Given the description of an element on the screen output the (x, y) to click on. 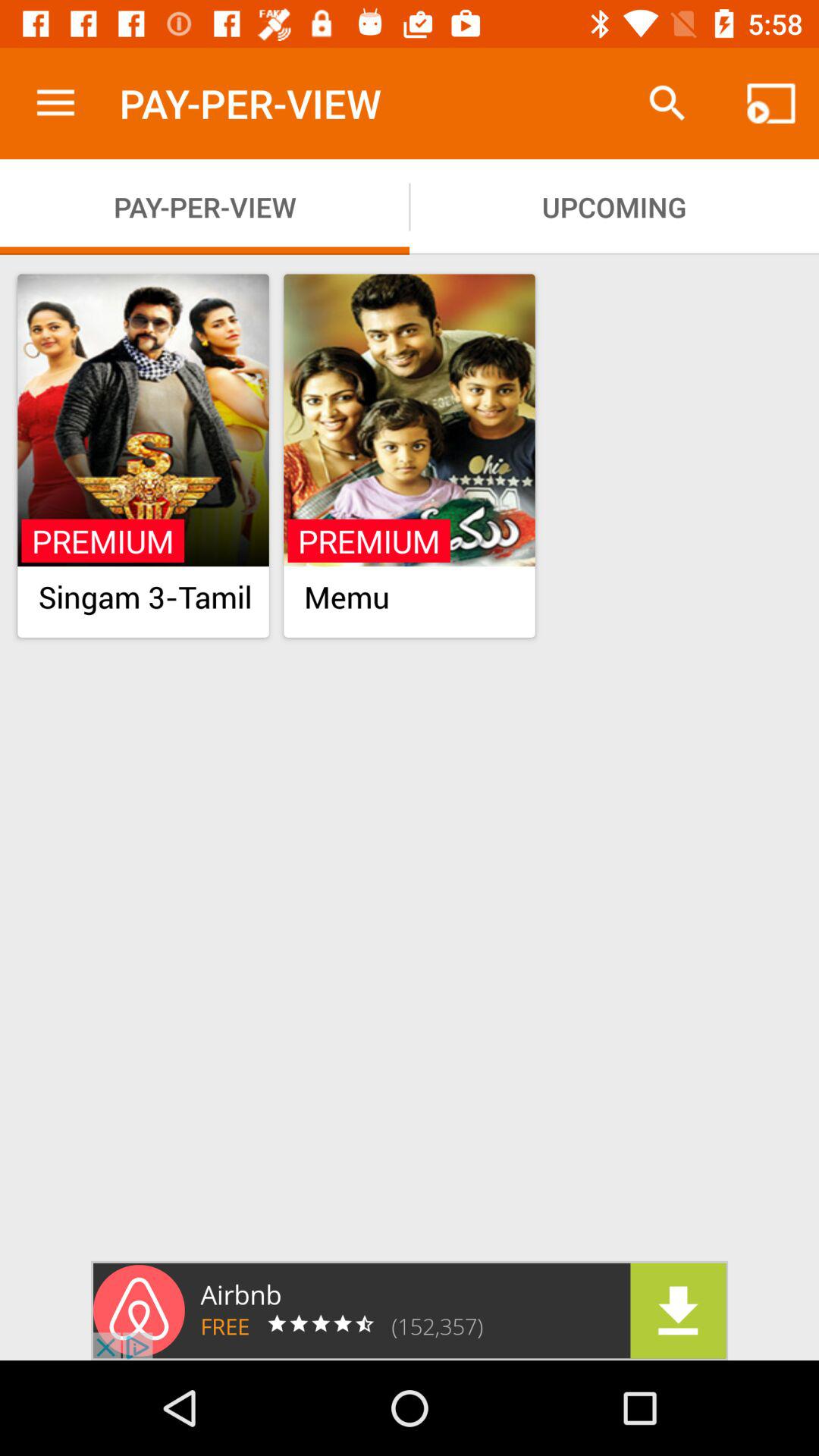
sponsored content (409, 1310)
